Given the description of an element on the screen output the (x, y) to click on. 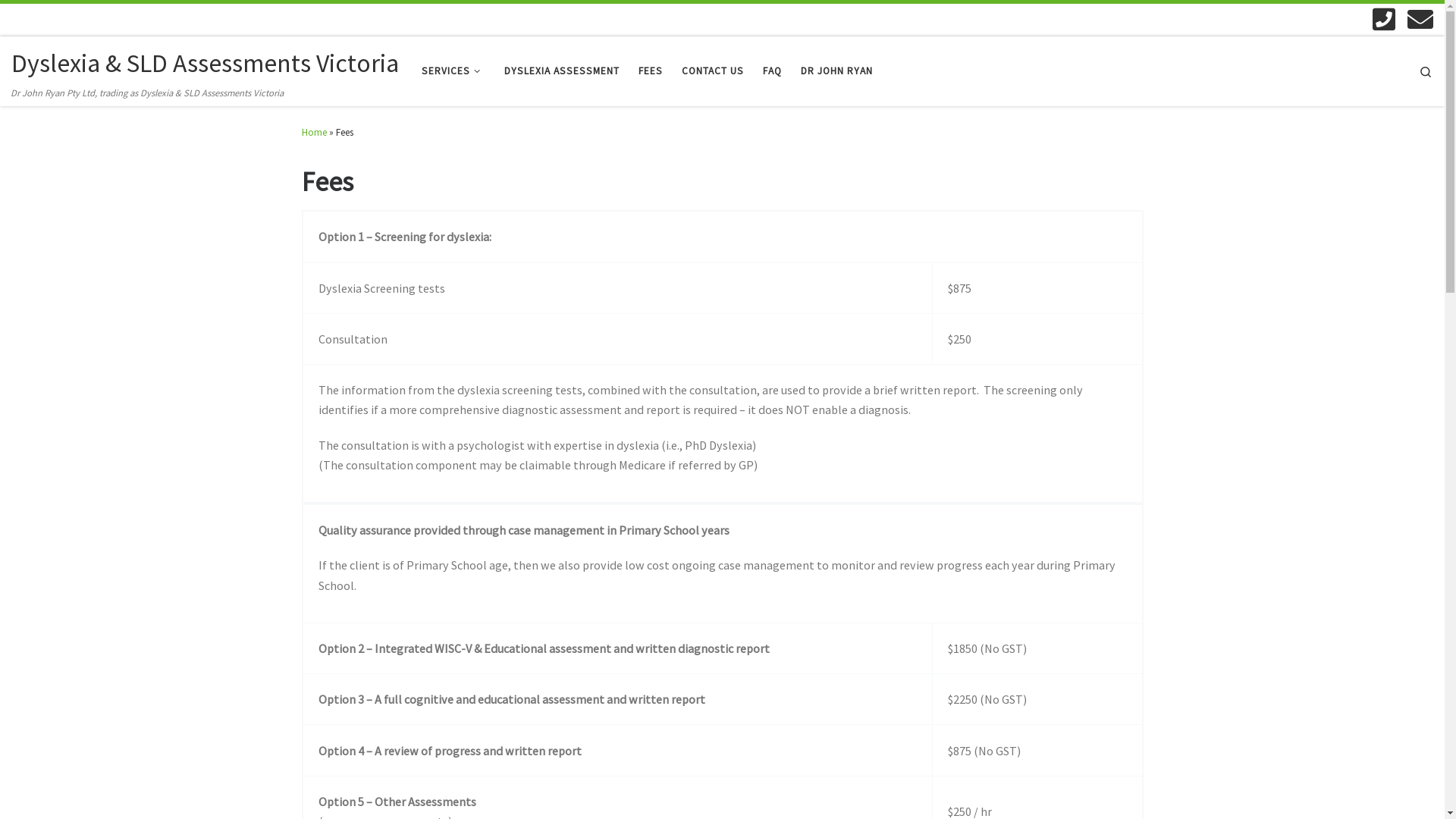
Dyslexia & SLD Assessments Victoria Element type: text (204, 62)
DYSLEXIA ASSESSMENT Element type: text (561, 71)
CONTACT US Element type: text (713, 71)
Skip to content Element type: text (55, 20)
Follow us on Phone-square Element type: hover (1383, 18)
FEES Element type: text (650, 71)
DR JOHN RYAN Element type: text (837, 71)
SERVICES Element type: text (453, 71)
Follow us on Email Element type: hover (1420, 18)
Home Element type: text (313, 131)
FAQ Element type: text (772, 71)
Search Element type: text (1425, 70)
